Given the description of an element on the screen output the (x, y) to click on. 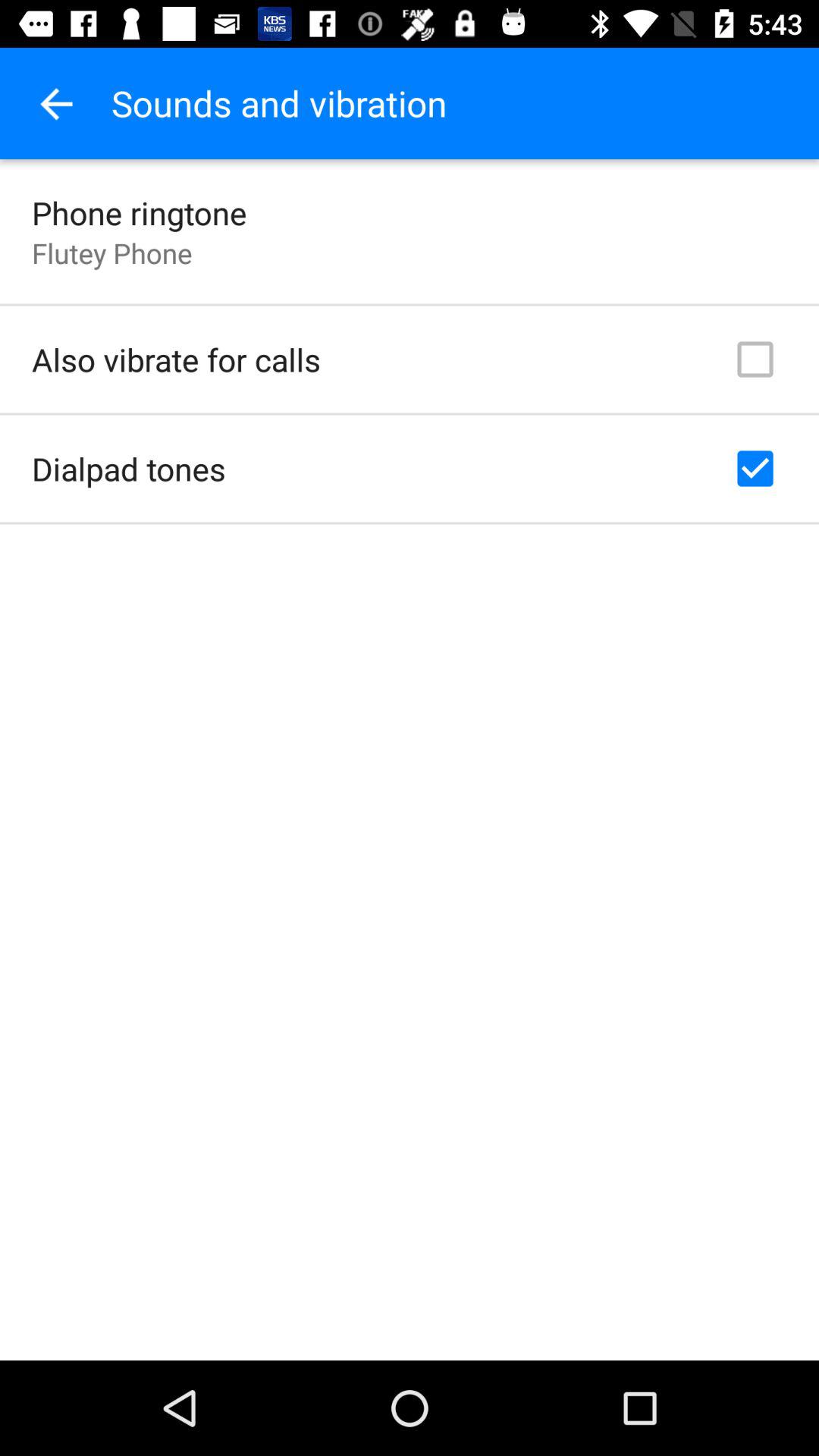
turn off the icon to the left of the sounds and vibration icon (55, 103)
